Given the description of an element on the screen output the (x, y) to click on. 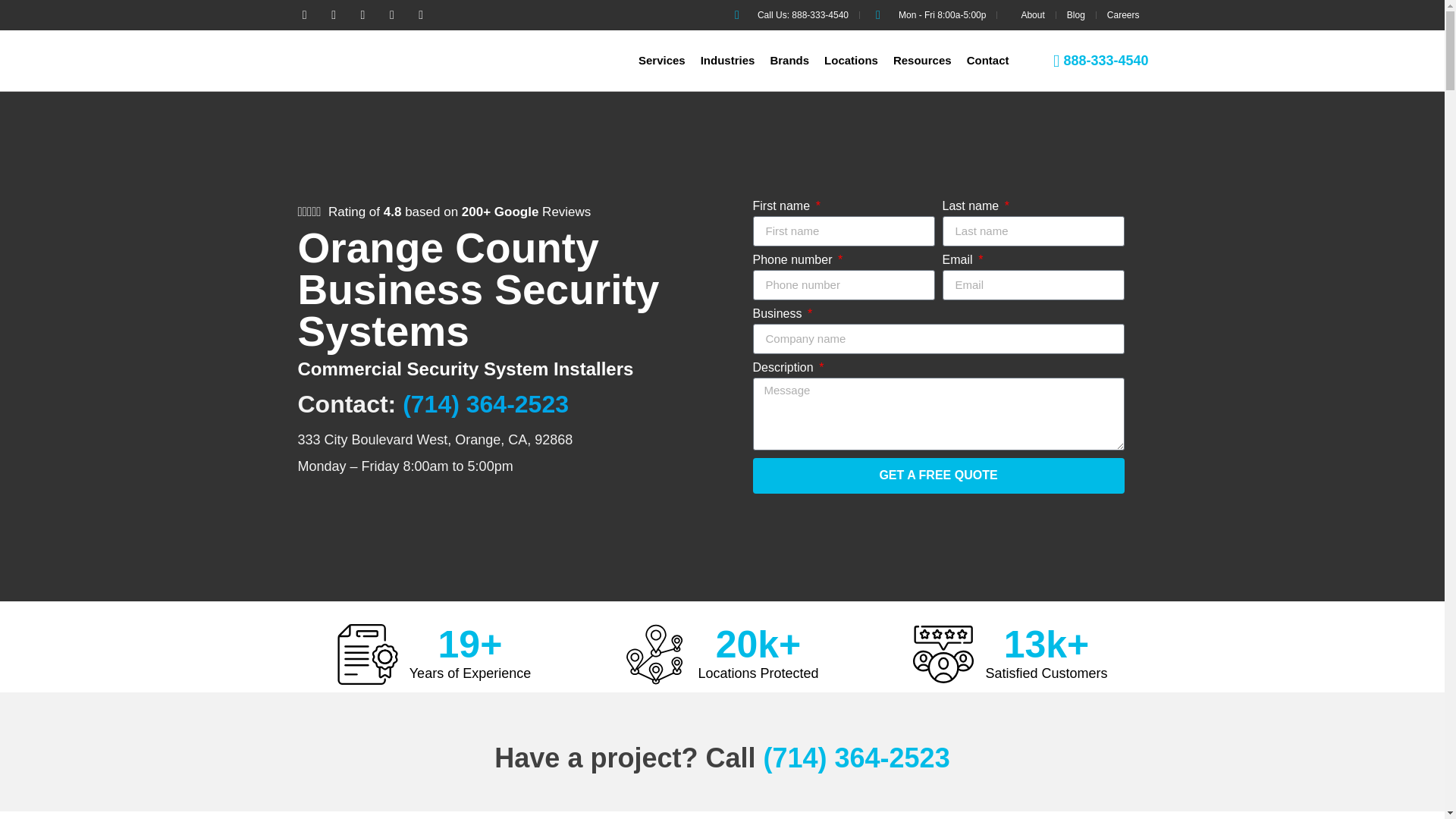
Blog (1075, 15)
Industries (735, 60)
Careers (1123, 15)
Call Us: 888-333-4540 (788, 15)
Services (669, 60)
About (1025, 15)
